Given the description of an element on the screen output the (x, y) to click on. 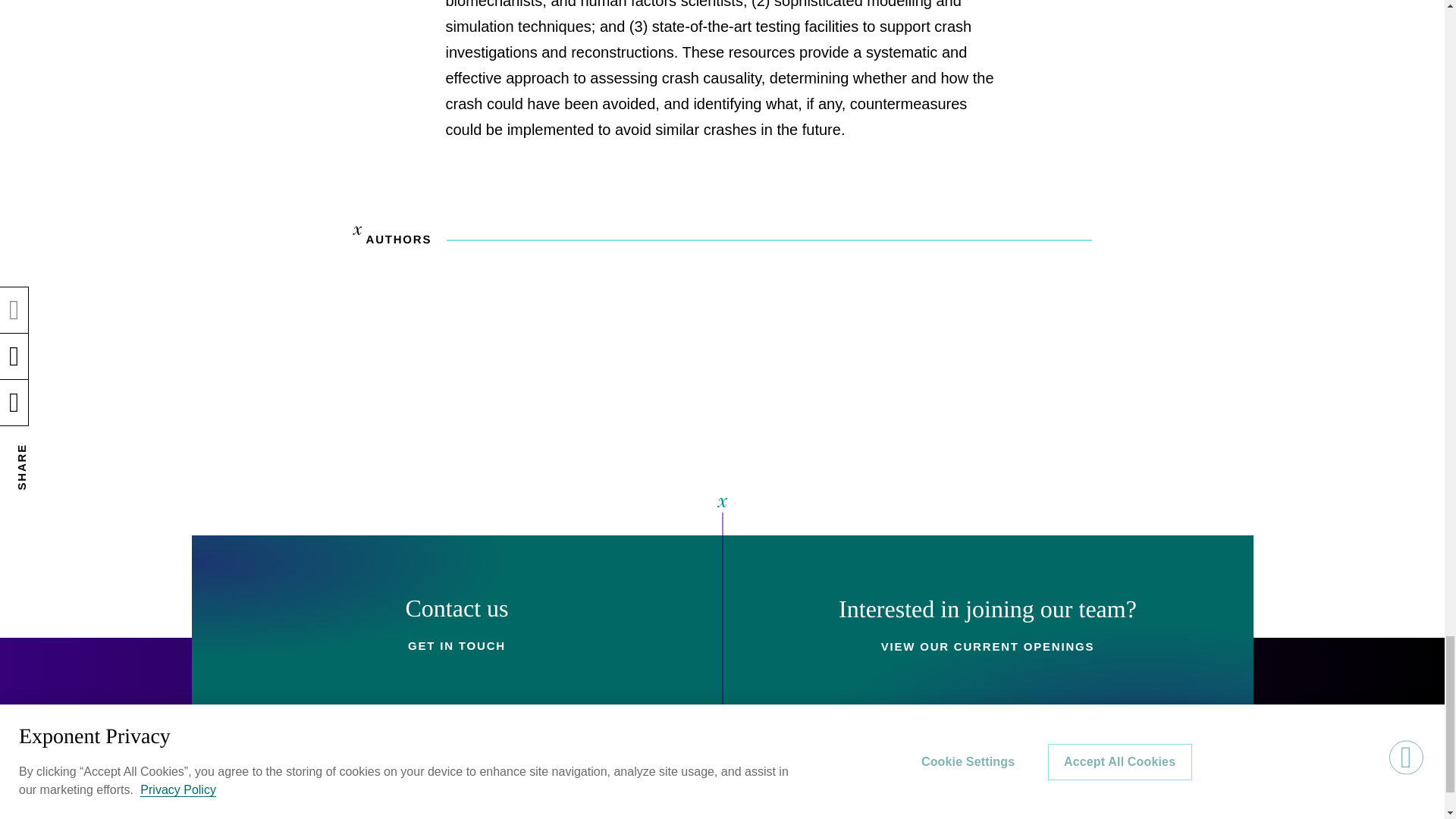
Exponent (256, 810)
